Given the description of an element on the screen output the (x, y) to click on. 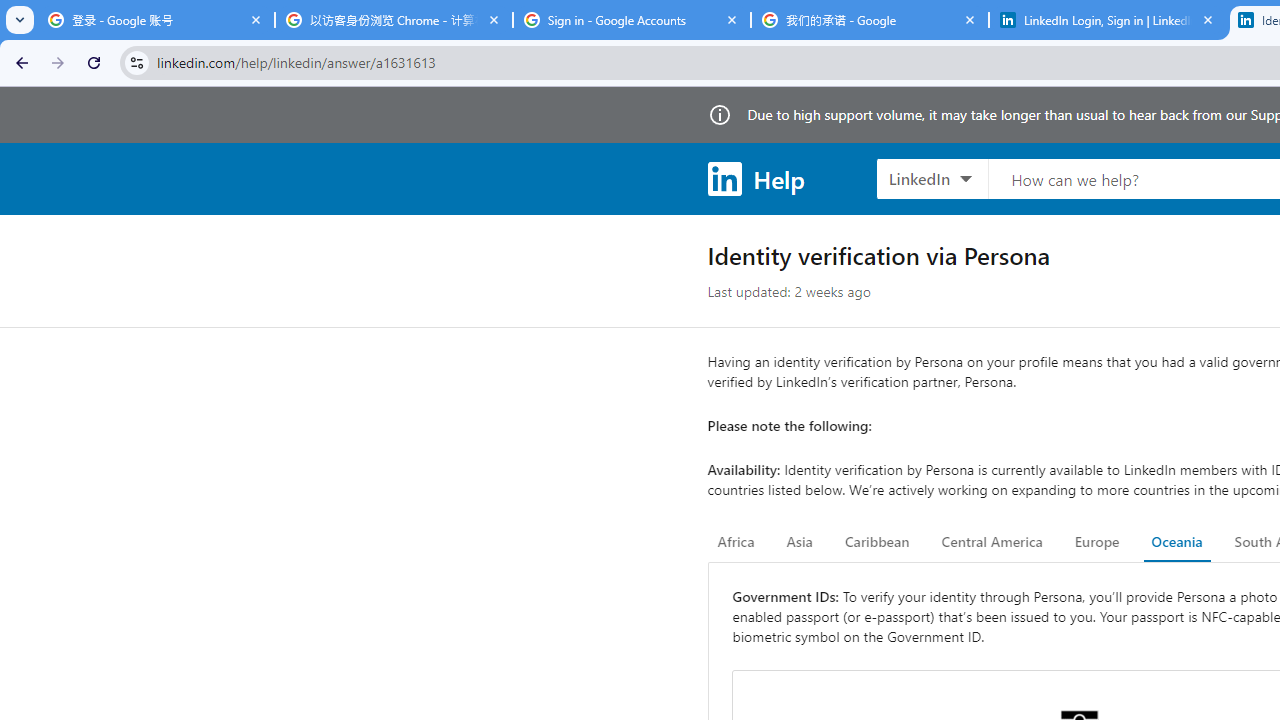
LinkedIn Login, Sign in | LinkedIn (1108, 20)
Africa (735, 542)
